Given the description of an element on the screen output the (x, y) to click on. 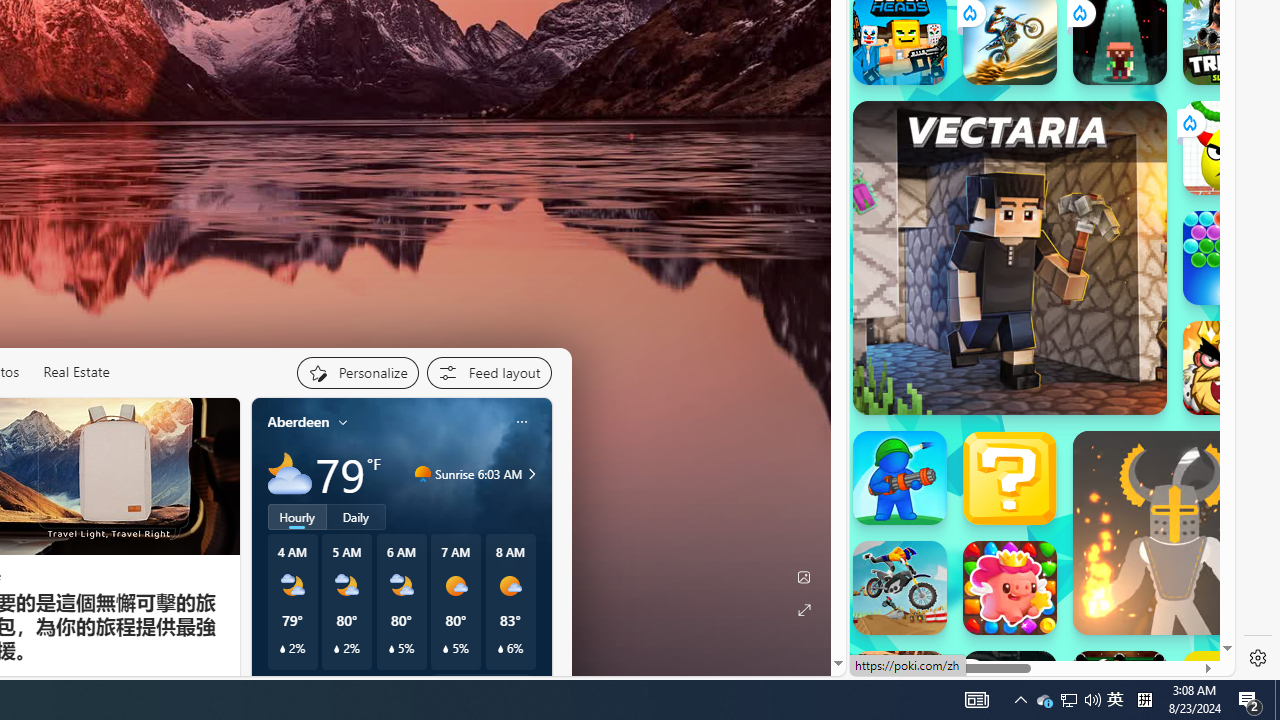
My location (343, 421)
Games for Girls (1042, 30)
Class: weather-arrow-glyph (531, 474)
Class: weather-current-precipitation-glyph (500, 649)
Class: rCs5cyEiqiTpYvt_VBCR (968, 672)
Mostly cloudy (289, 474)
Ragdoll Hit (1174, 533)
Combat Reloaded (1092, 334)
Crazy Cars (1217, 324)
Feed settings (488, 372)
SUBWAY SURFERS - Play Online for Free! | Poki (1034, 659)
See full forecast (480, 685)
